Given the description of an element on the screen output the (x, y) to click on. 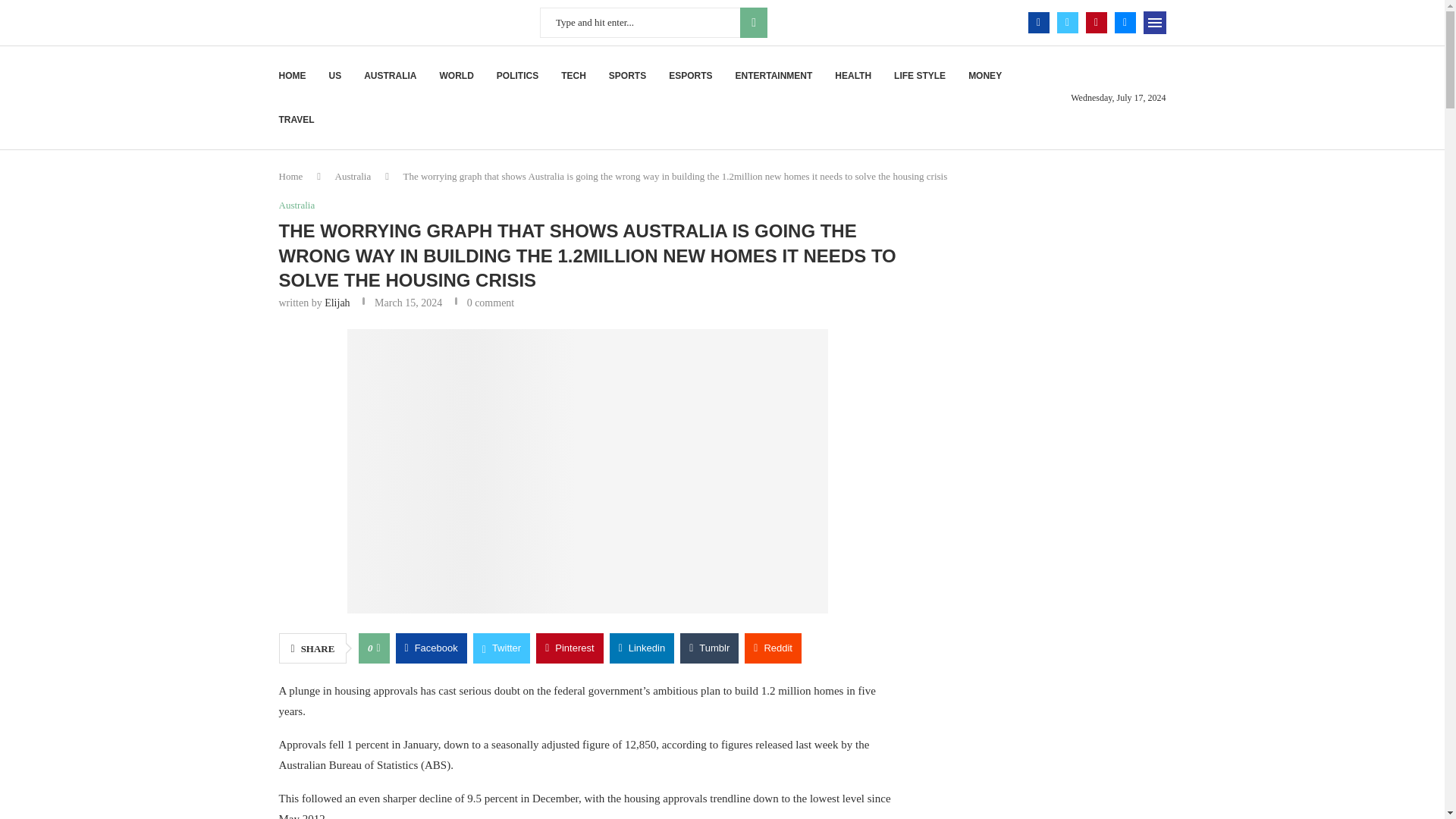
ENTERTAINMENT (773, 75)
SEARCH (753, 22)
ESPORTS (689, 75)
AUSTRALIA (390, 75)
LIFE STYLE (918, 75)
POLITICS (517, 75)
